Given the description of an element on the screen output the (x, y) to click on. 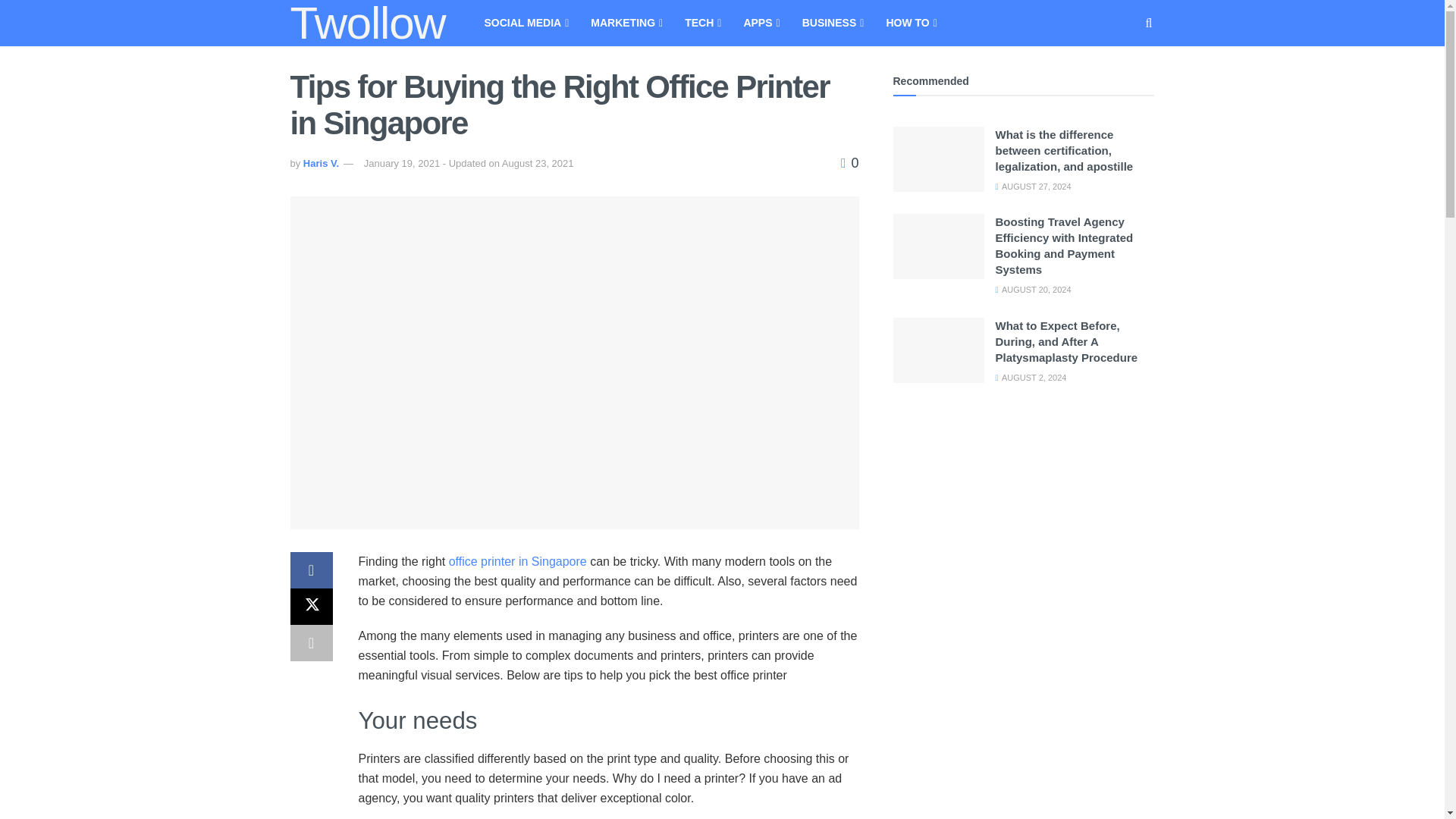
MARKETING (625, 22)
SOCIAL MEDIA (524, 22)
Twollow (367, 22)
